Given the description of an element on the screen output the (x, y) to click on. 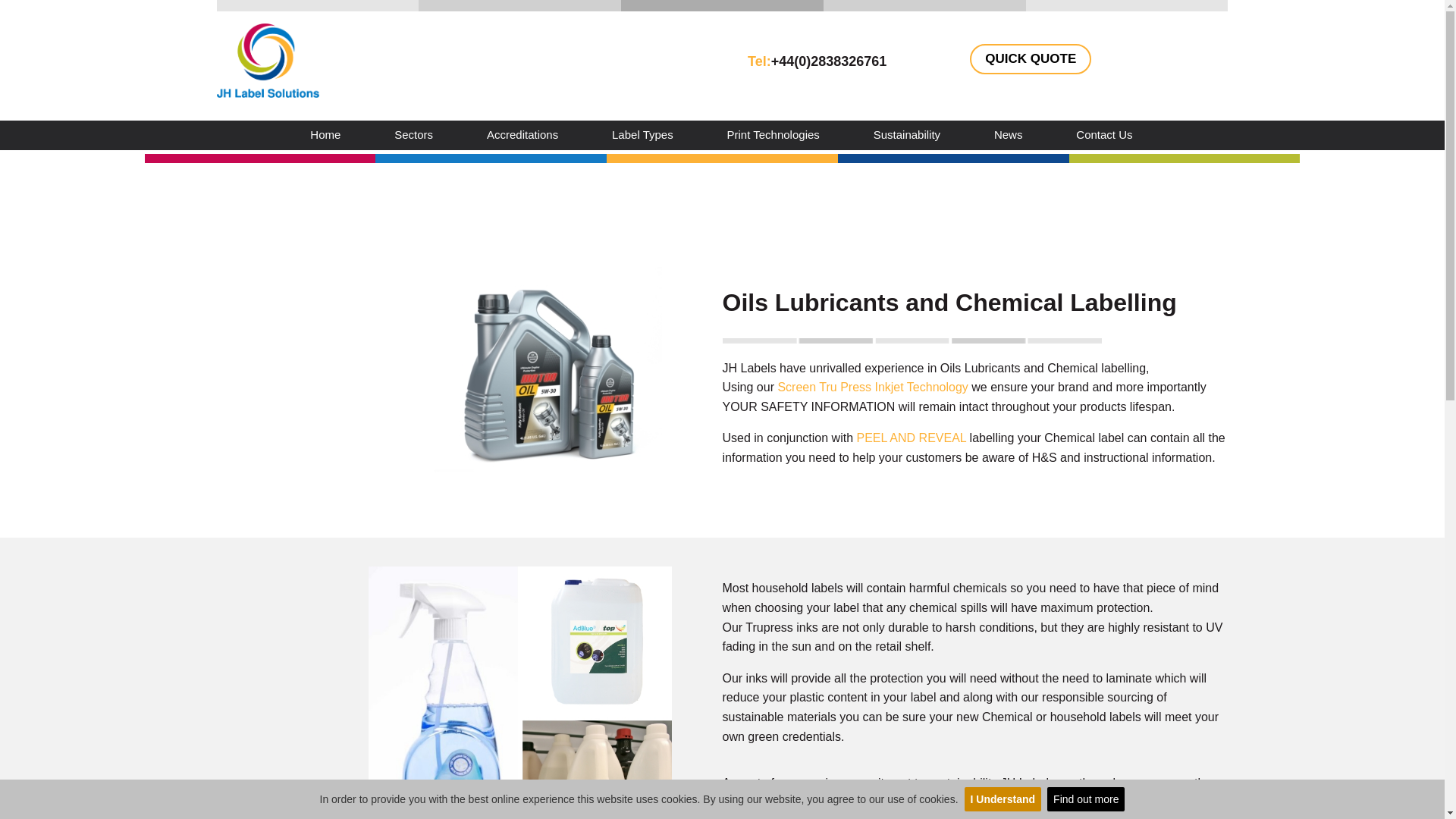
QUICK QUOTE (1029, 59)
Print Technologies (772, 134)
Find out more (1085, 799)
Accreditations (522, 134)
Sectors (413, 134)
I Understand (1002, 799)
Home (325, 134)
News (1008, 134)
Contact Us (1104, 134)
Label Types (642, 134)
